Given the description of an element on the screen output the (x, y) to click on. 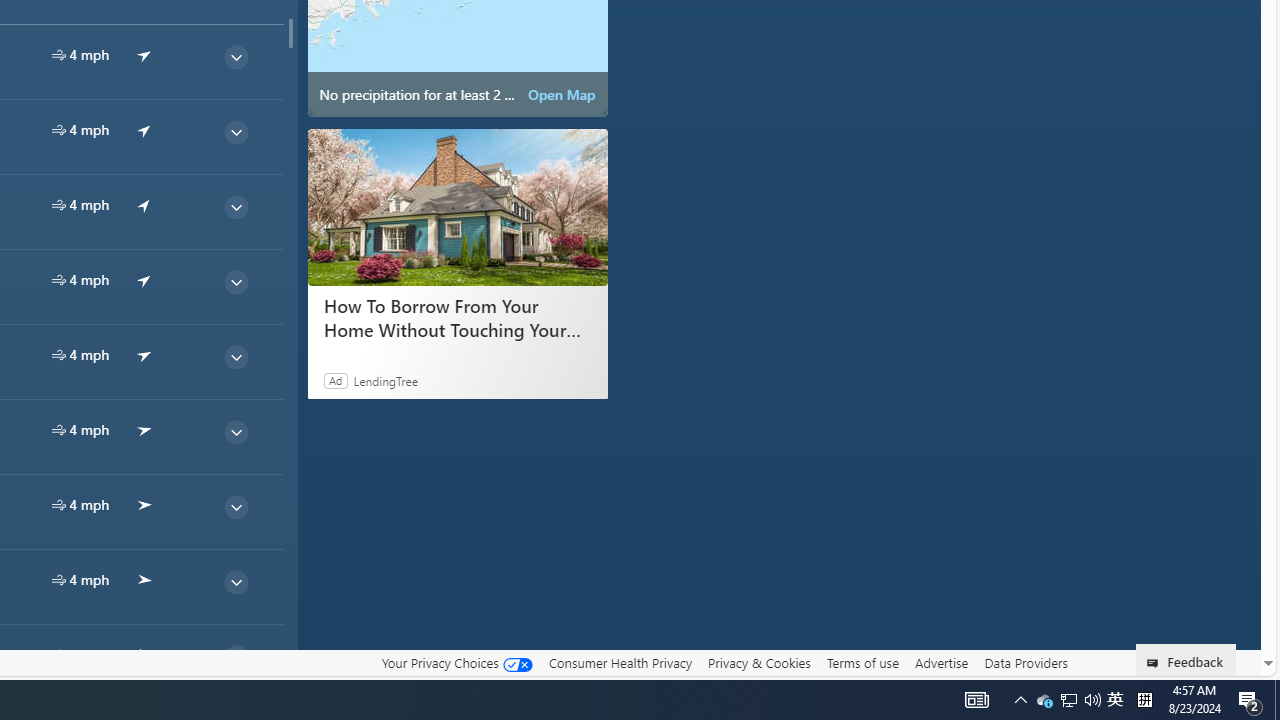
Class: feedback_link_icon-DS-EntryPoint1-1 (1156, 663)
